Given the description of an element on the screen output the (x, y) to click on. 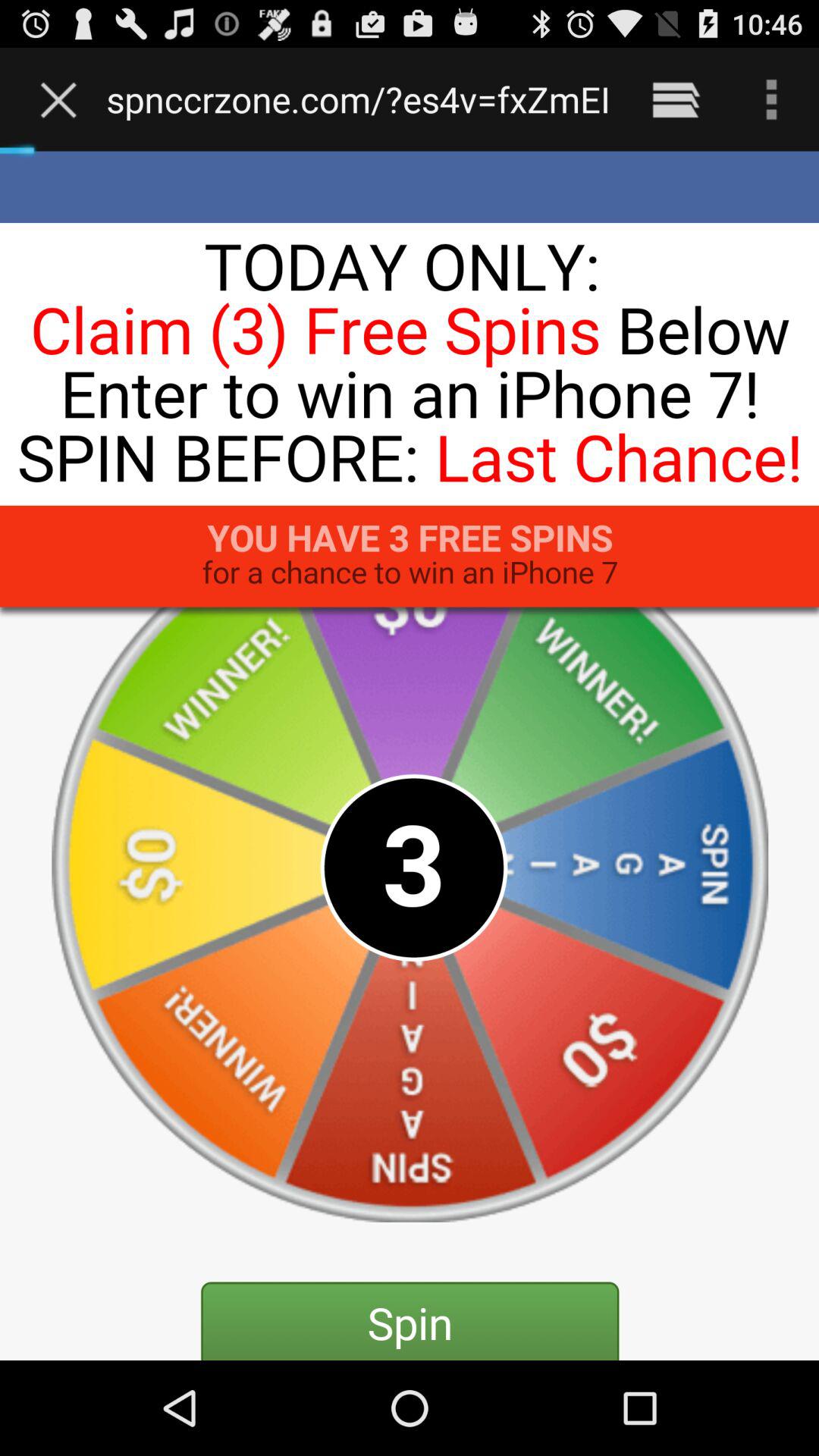
launch the item next to www electronicproductzone com icon (62, 99)
